Given the description of an element on the screen output the (x, y) to click on. 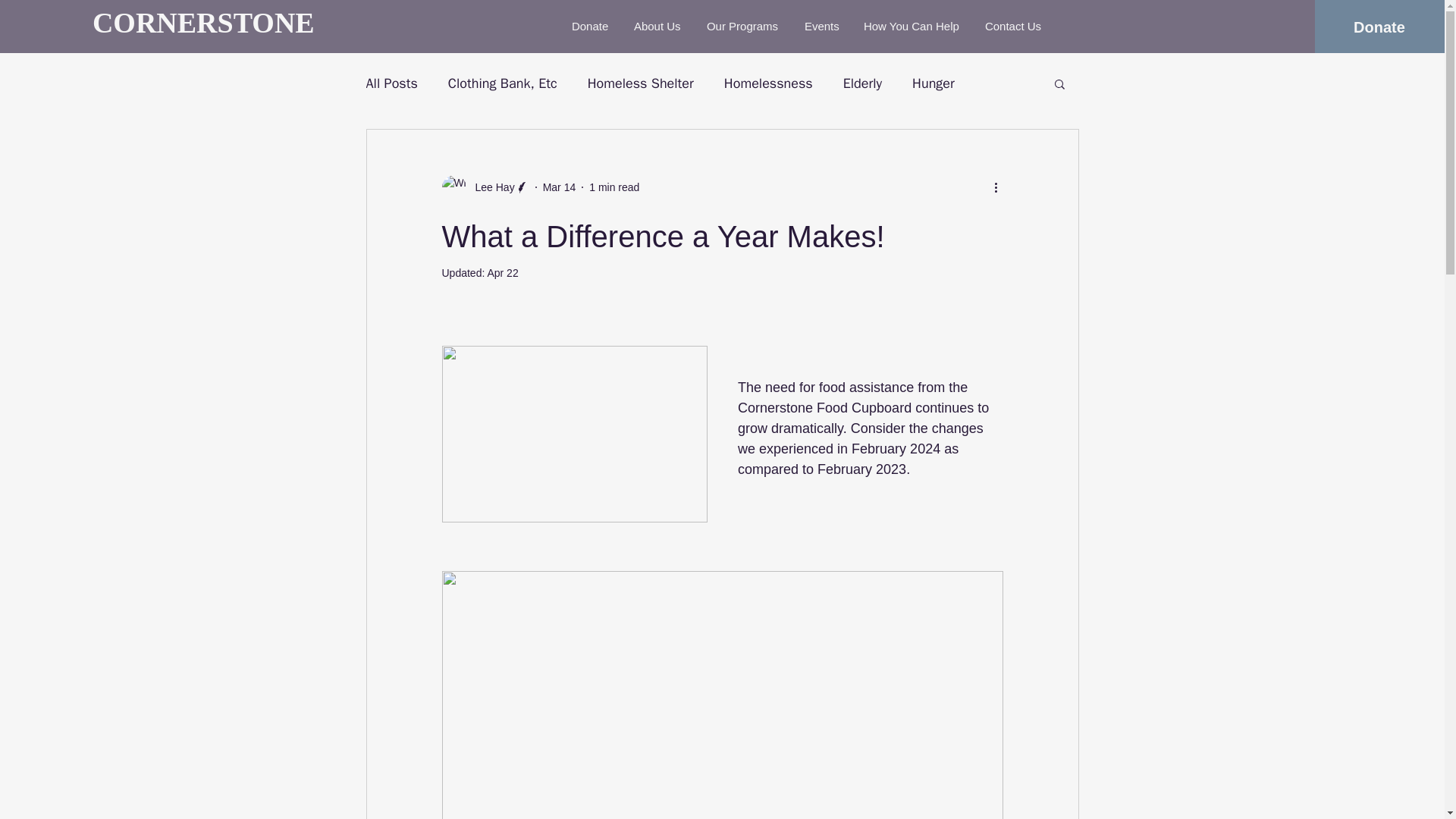
Our Programs (744, 26)
About Us (659, 26)
Lee Hay (489, 186)
Lee Hay (484, 187)
Donate (1378, 27)
All Posts (390, 83)
How You Can Help (912, 26)
Apr 22 (502, 272)
Mar 14 (559, 186)
Homelessness (767, 83)
CORNERSTONE (204, 23)
Donate (591, 26)
Contact Us (1014, 26)
1 min read (614, 186)
Events (822, 26)
